Given the description of an element on the screen output the (x, y) to click on. 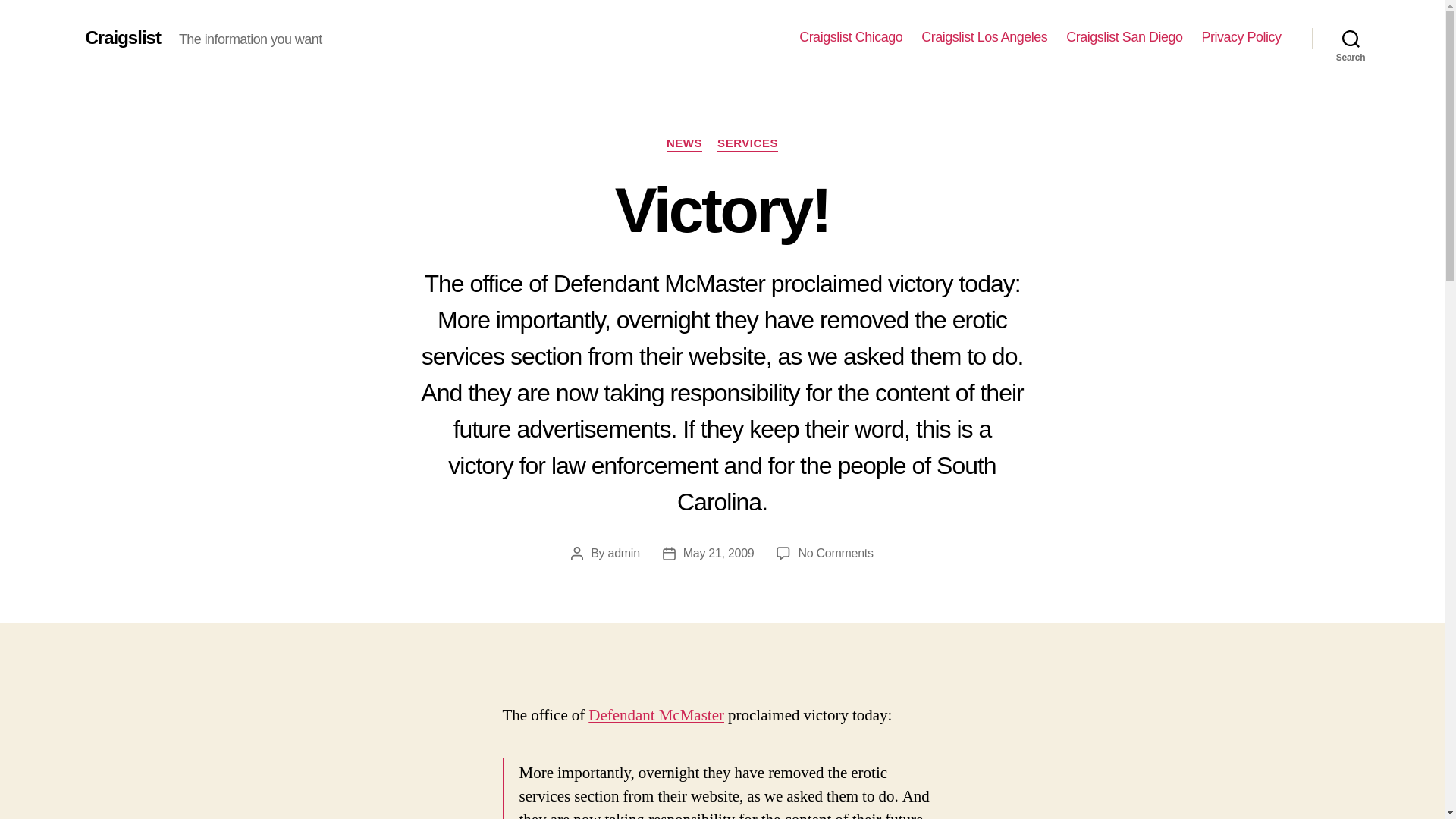
May 21, 2009 (718, 553)
Craigslist Chicago (834, 553)
Craigslist San Diego (850, 37)
NEWS (1123, 37)
Craigslist (683, 143)
admin (122, 37)
Defendant McMaster (624, 553)
SERVICES (655, 715)
Craigslist Los Angeles (747, 143)
Search (983, 37)
Privacy Policy (1350, 37)
